Given the description of an element on the screen output the (x, y) to click on. 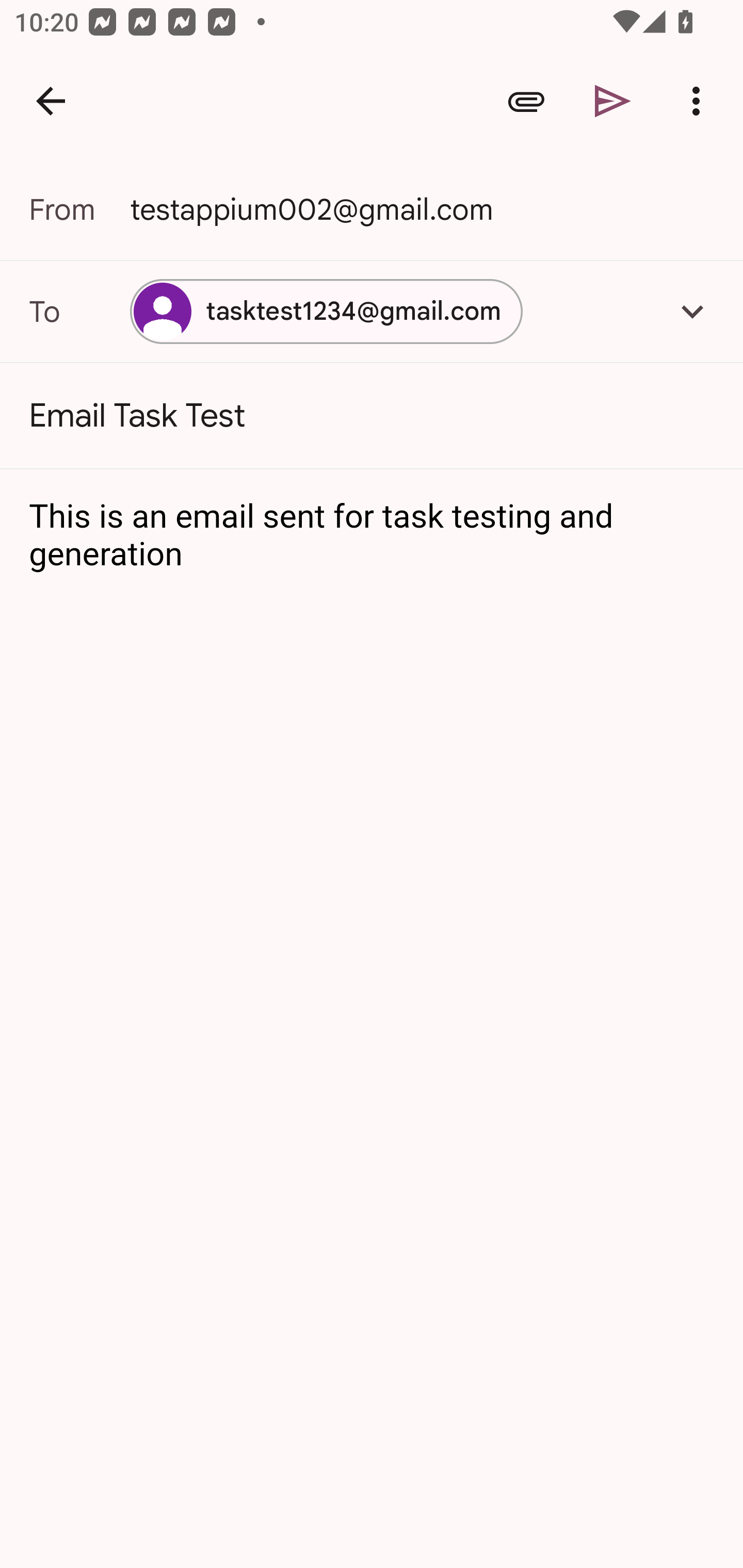
Navigate up (50, 101)
Attach file (525, 101)
Send (612, 101)
More options (699, 101)
From (79, 209)
Add Cc/Bcc (692, 311)
Email Task Test (371, 415)
